Given the description of an element on the screen output the (x, y) to click on. 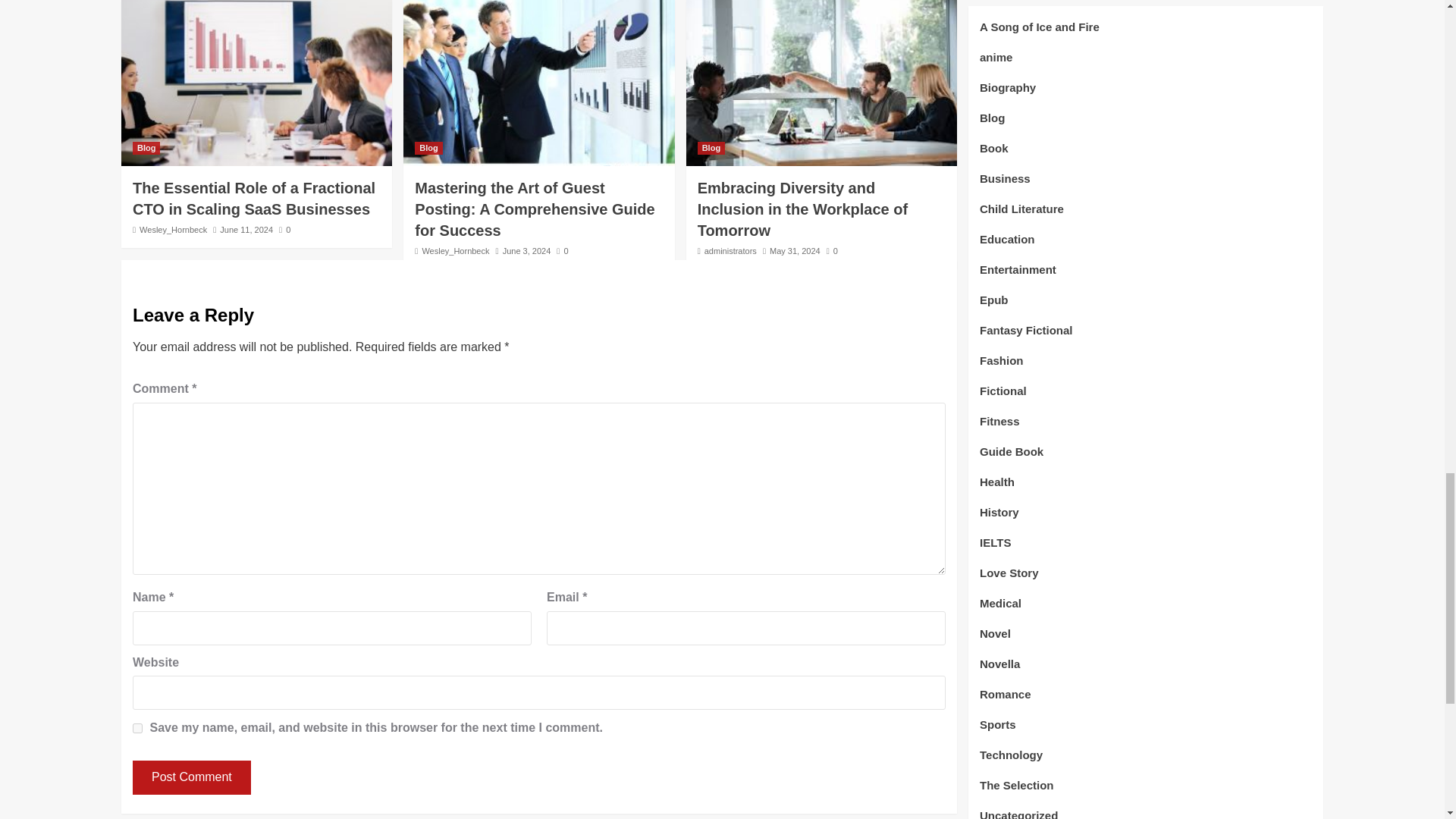
0 (561, 250)
June 11, 2024 (246, 229)
May 31, 2024 (795, 250)
June 3, 2024 (526, 250)
Blog (711, 147)
Post Comment (191, 777)
administrators (730, 250)
Blog (146, 147)
0 (284, 229)
Blog (428, 147)
yes (137, 728)
